Given the description of an element on the screen output the (x, y) to click on. 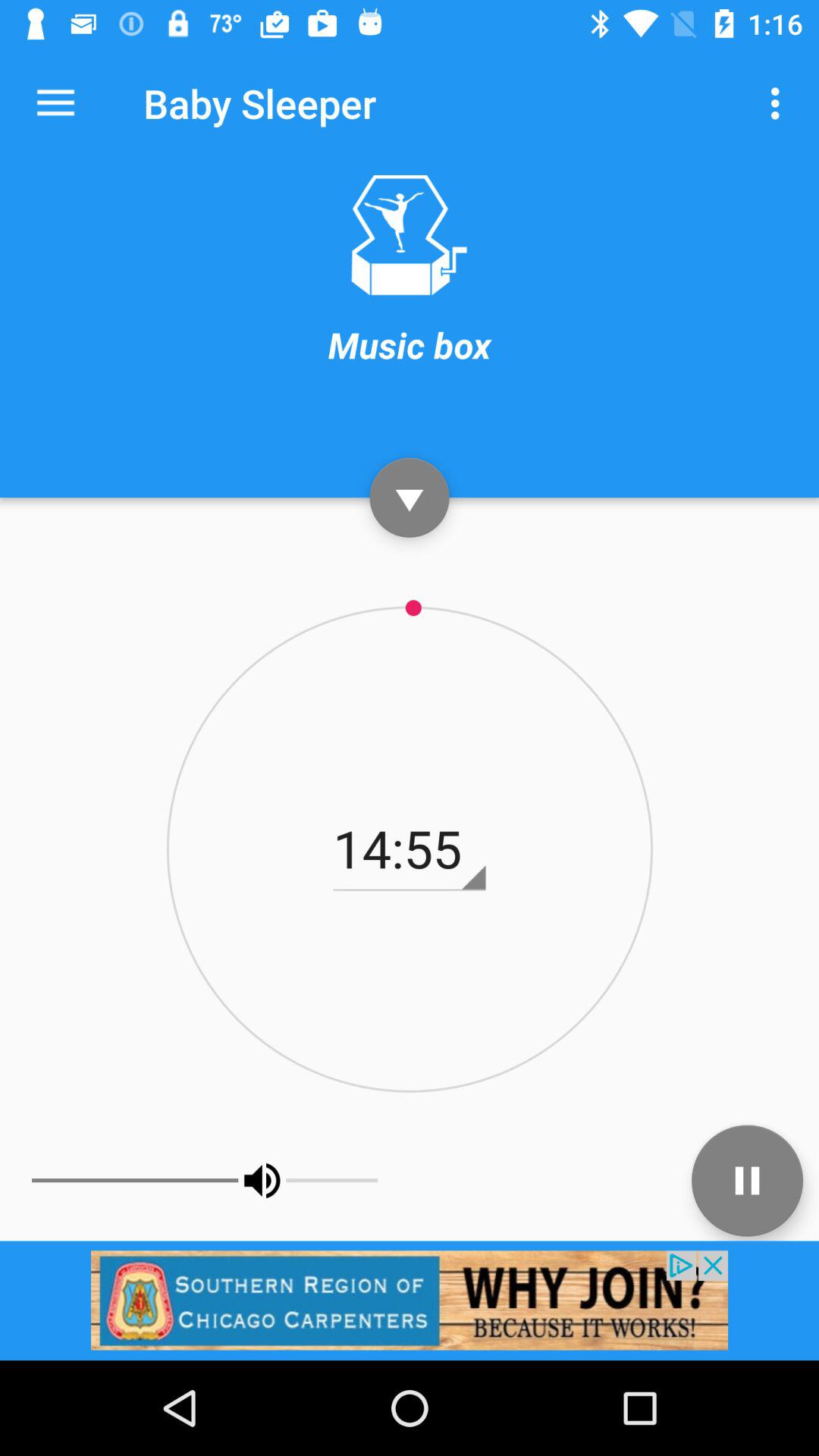
bit news (409, 1300)
